Given the description of an element on the screen output the (x, y) to click on. 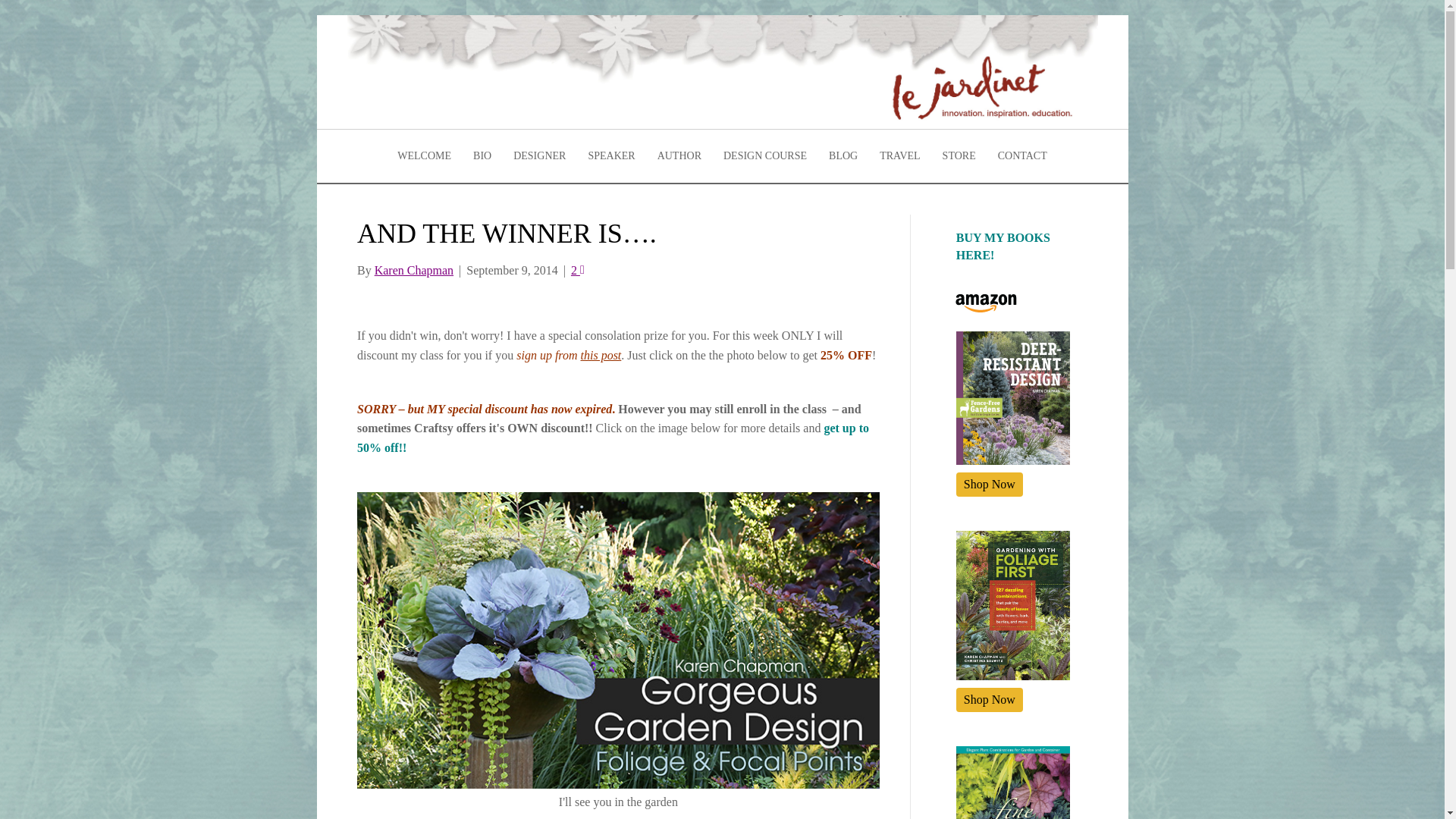
CONTACT (1022, 156)
Click Here (989, 484)
BLOG (842, 156)
2 (577, 269)
Karen Chapman (413, 269)
STORE (959, 156)
Click Here (989, 699)
a-logo-amazon (985, 303)
WELCOME (424, 156)
AUTHOR (678, 156)
TRAVEL (899, 156)
DESIGNER (539, 156)
DESIGN COURSE (764, 156)
BIO (482, 156)
SPEAKER (610, 156)
